Given the description of an element on the screen output the (x, y) to click on. 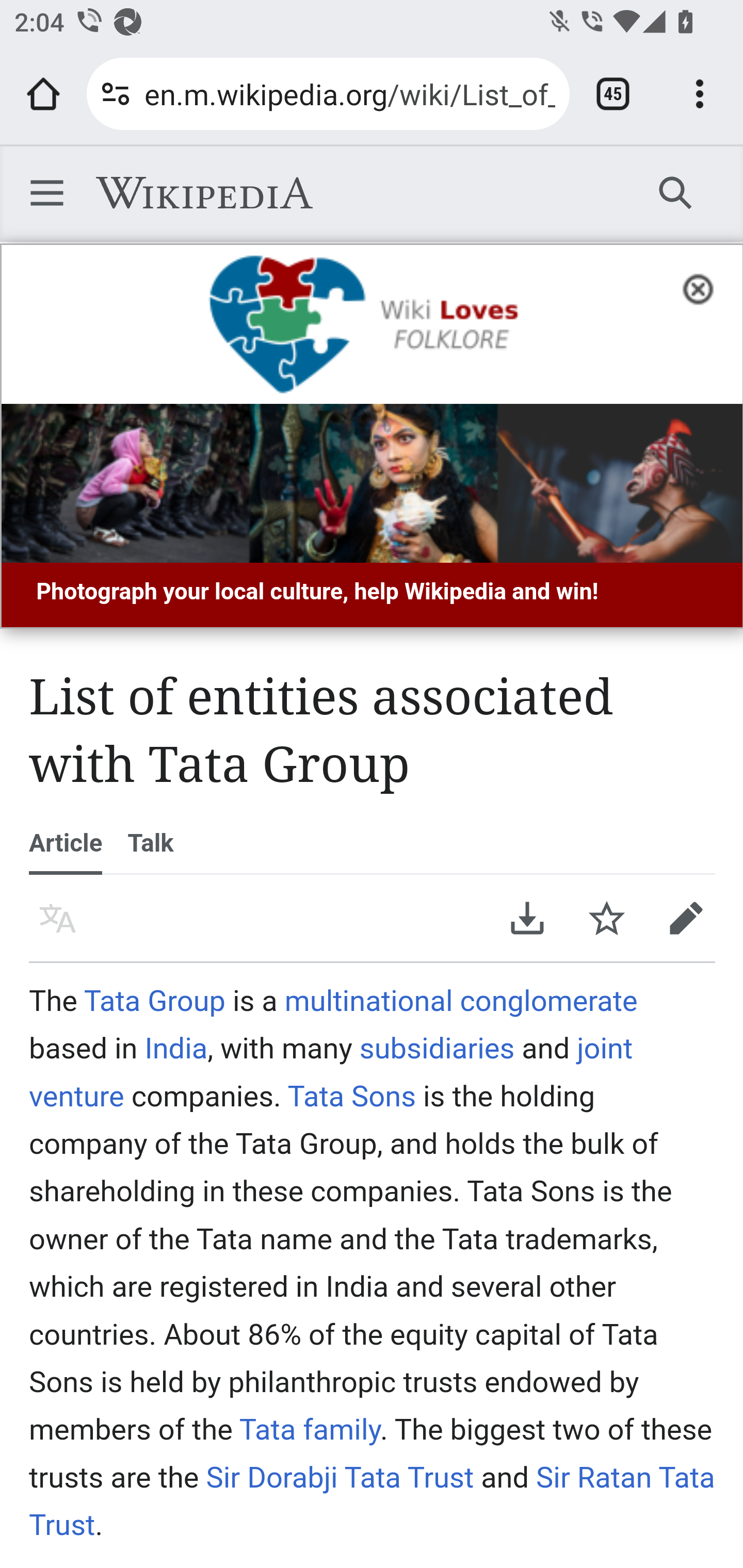
Open the home page (43, 93)
Connection is secure (115, 93)
Switch or close tabs (612, 93)
Customize and control Google Chrome (699, 93)
Search (676, 192)
Wikipedia (203, 192)
Hide (703, 286)
Article (65, 842)
Talk (150, 842)
Language (57, 918)
Download PDF (526, 918)
Watch (606, 918)
Edit (686, 918)
Tata Group (155, 1000)
multinational (368, 1000)
conglomerate (548, 1000)
joint venture (330, 1071)
India (176, 1048)
subsidiaries (436, 1048)
Tata Sons (351, 1095)
Tata family (309, 1429)
Sir Ratan Tata Trust (372, 1500)
Sir Dorabji Tata Trust (339, 1476)
